Given the description of an element on the screen output the (x, y) to click on. 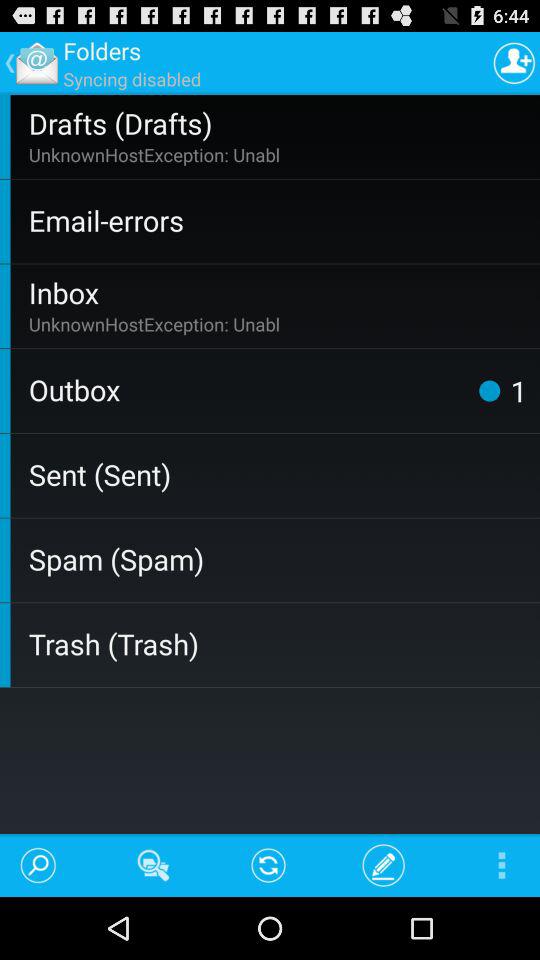
select the item above the trash (trash) icon (280, 558)
